Given the description of an element on the screen output the (x, y) to click on. 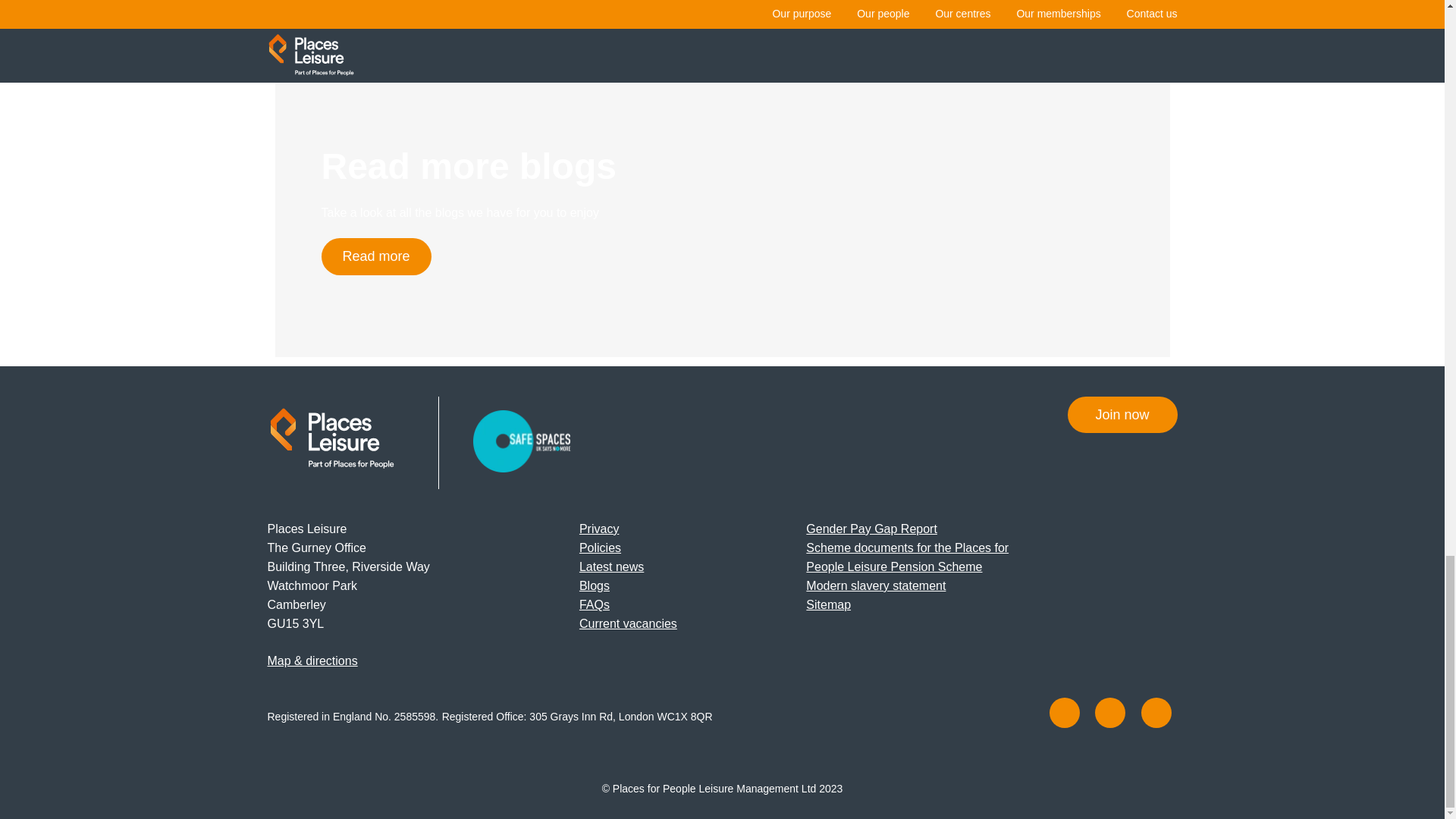
Sitemap (828, 604)
Current vacancies (628, 623)
Privacy (598, 528)
Modern slavery statement (875, 585)
Latest news (611, 566)
Blogs (594, 585)
Read more (375, 256)
Join now (1122, 414)
Gender Pay Gap Report (871, 528)
